Given the description of an element on the screen output the (x, y) to click on. 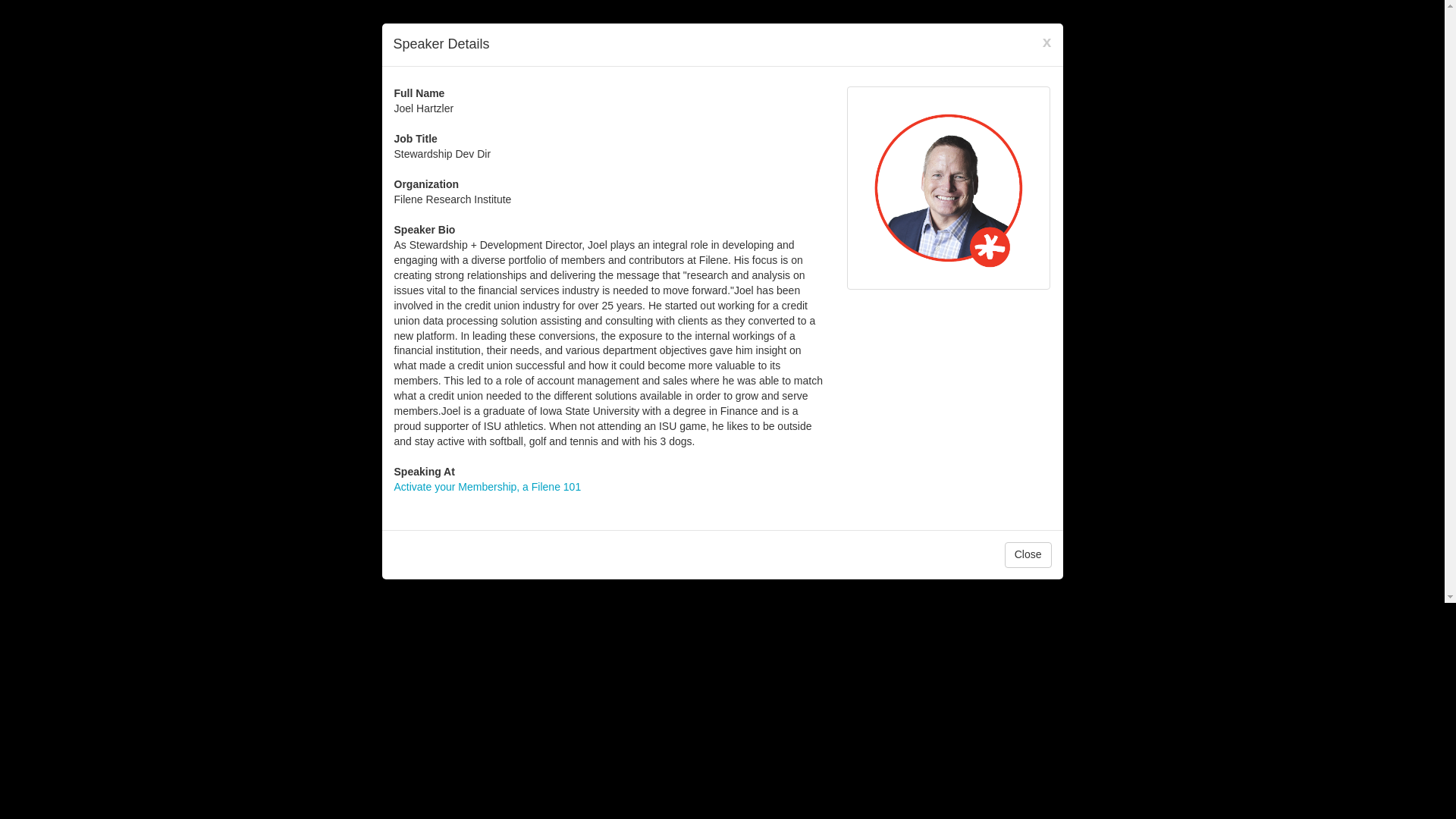
Activate your Membership, a Filene 101 (487, 486)
Close (1027, 555)
Session Details (487, 486)
